Given the description of an element on the screen output the (x, y) to click on. 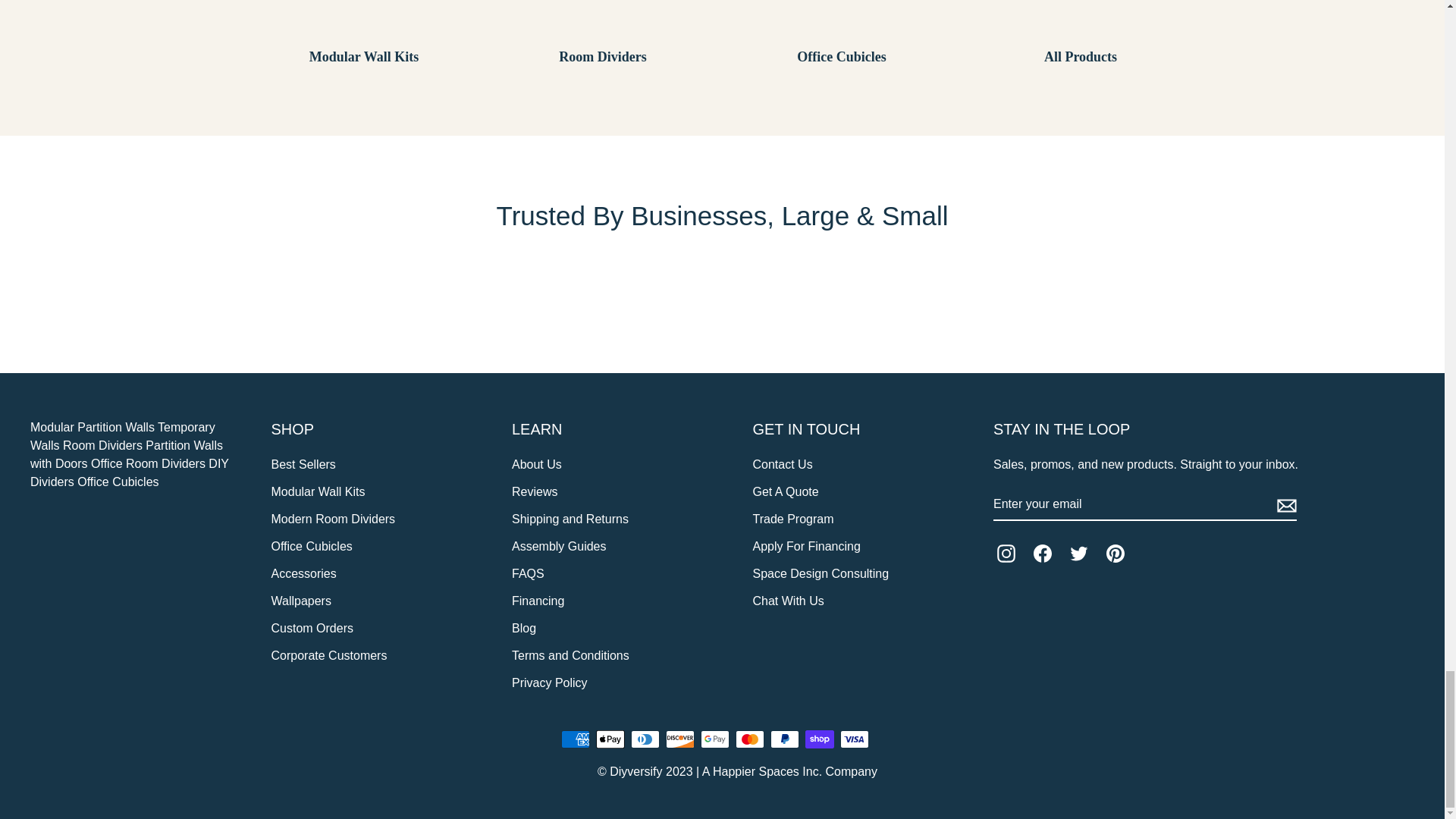
Apple Pay (609, 739)
Google Pay (714, 739)
Shop Pay (819, 739)
PayPal (784, 739)
Discover (679, 739)
Mastercard (749, 739)
Diners Club (644, 739)
American Express (574, 739)
